Given the description of an element on the screen output the (x, y) to click on. 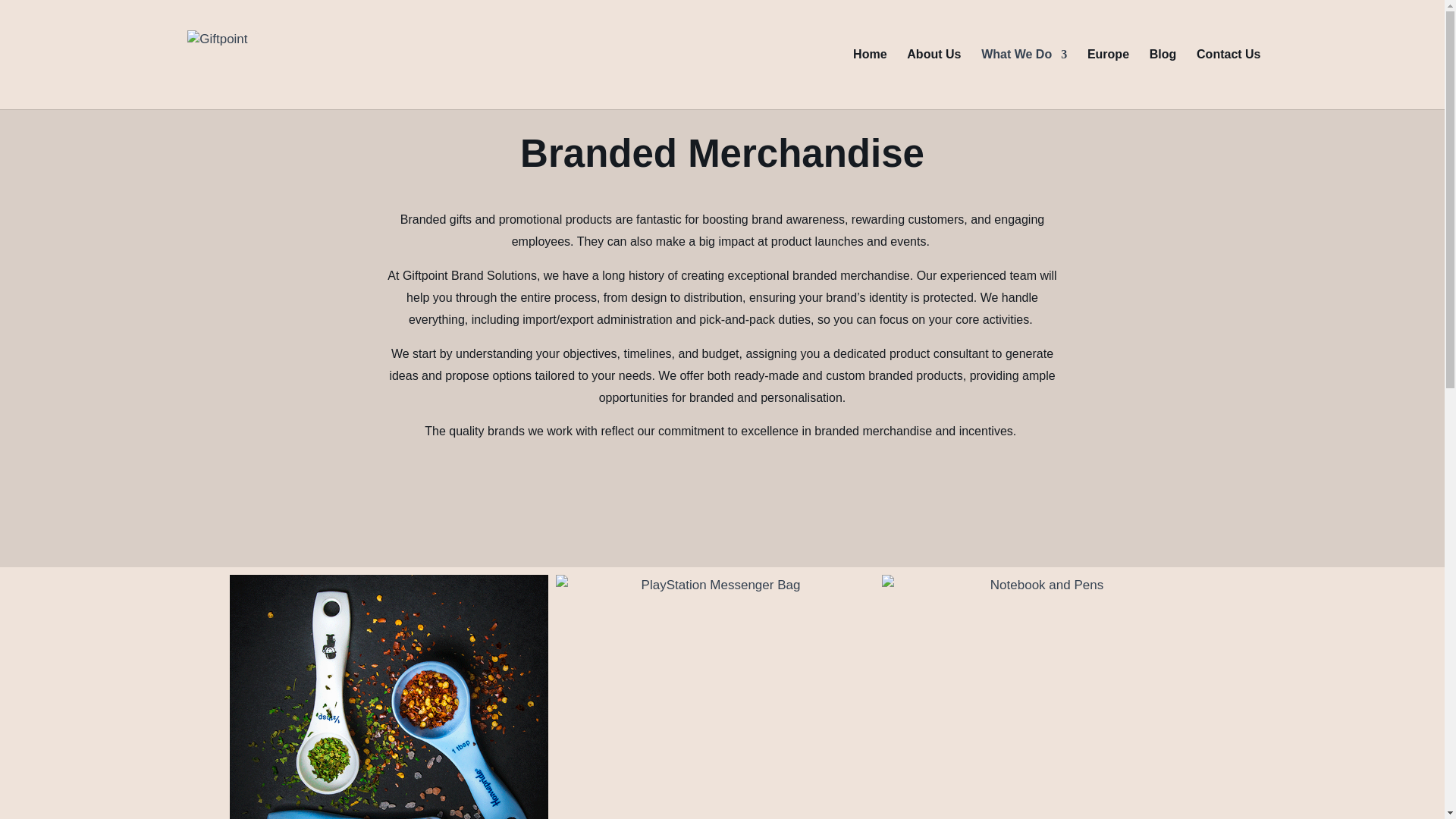
Contact Us (1228, 78)
Notebook and Pens (1039, 696)
Homepride Measuring Spoons (387, 696)
PlayStation Messenger Bag (713, 696)
About Us (933, 78)
What We Do (1024, 78)
